Given the description of an element on the screen output the (x, y) to click on. 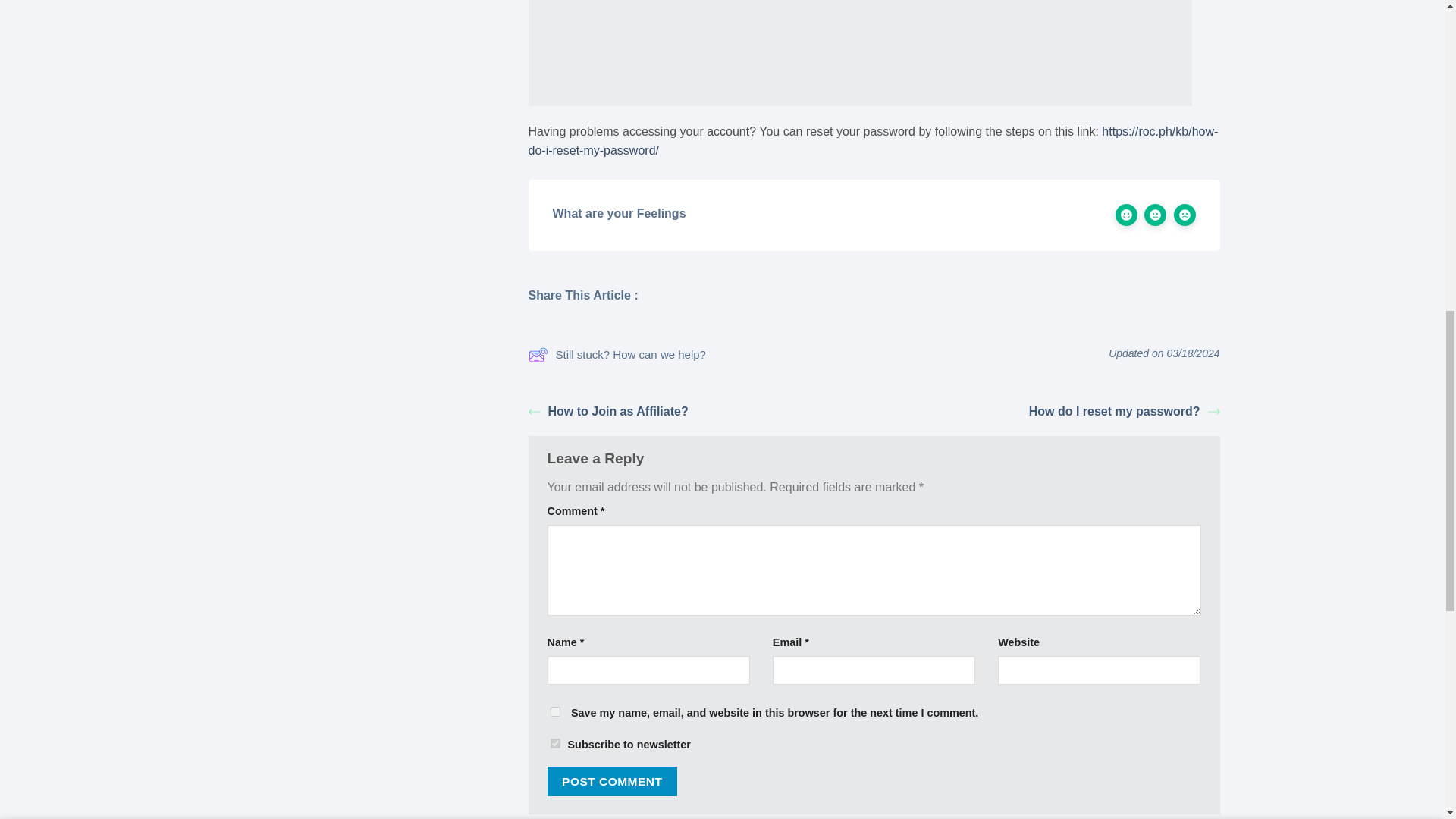
yes (555, 711)
Post Comment (612, 781)
yes (555, 743)
